Given the description of an element on the screen output the (x, y) to click on. 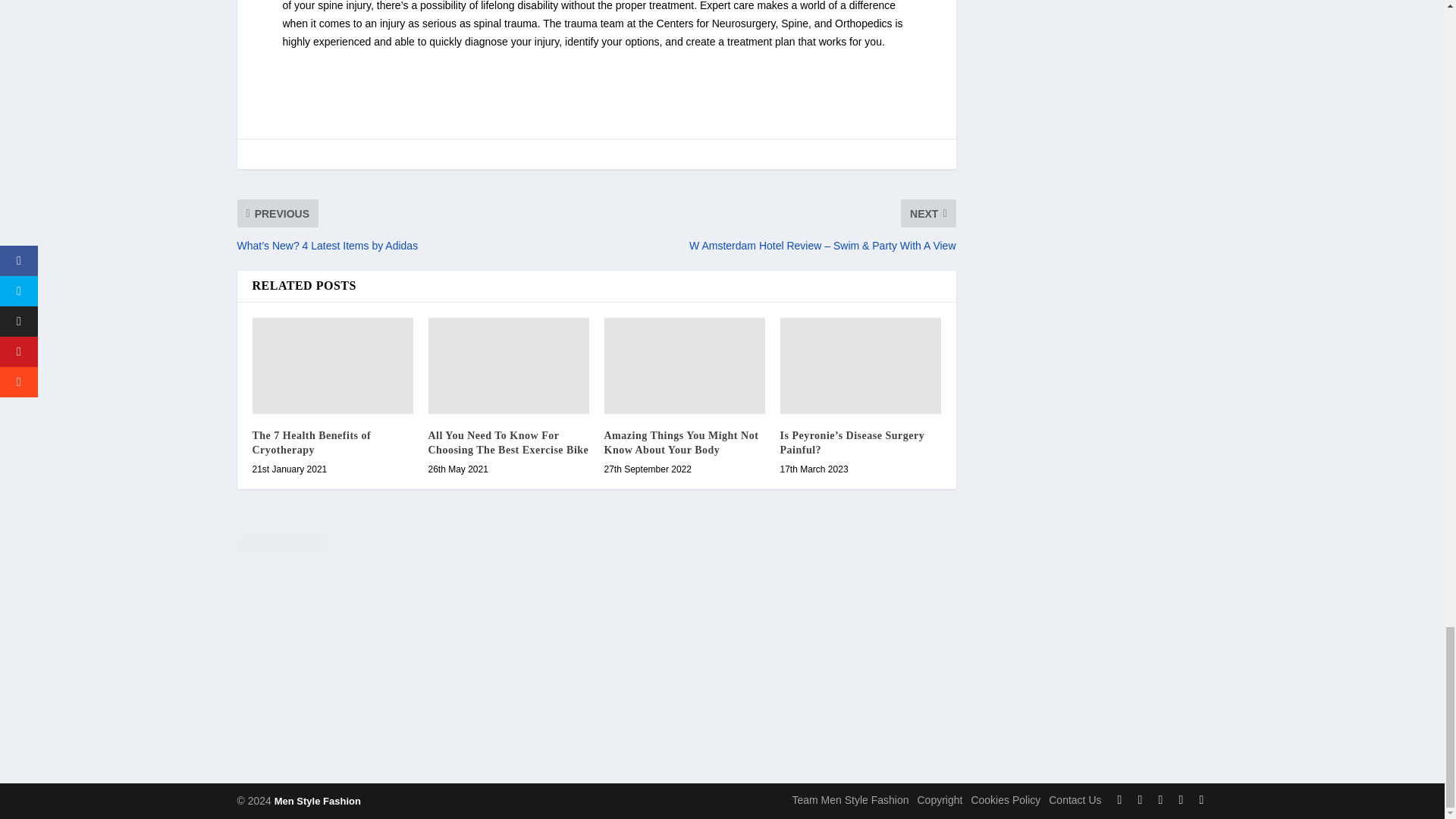
The 7 Health Benefits of Cryotherapy (331, 365)
DMCA.com Protection Status (595, 546)
Amazing Things You Might Not Know About Your Body (684, 365)
All You Need To Know For Choosing The Best Exercise Bike (508, 365)
